Given the description of an element on the screen output the (x, y) to click on. 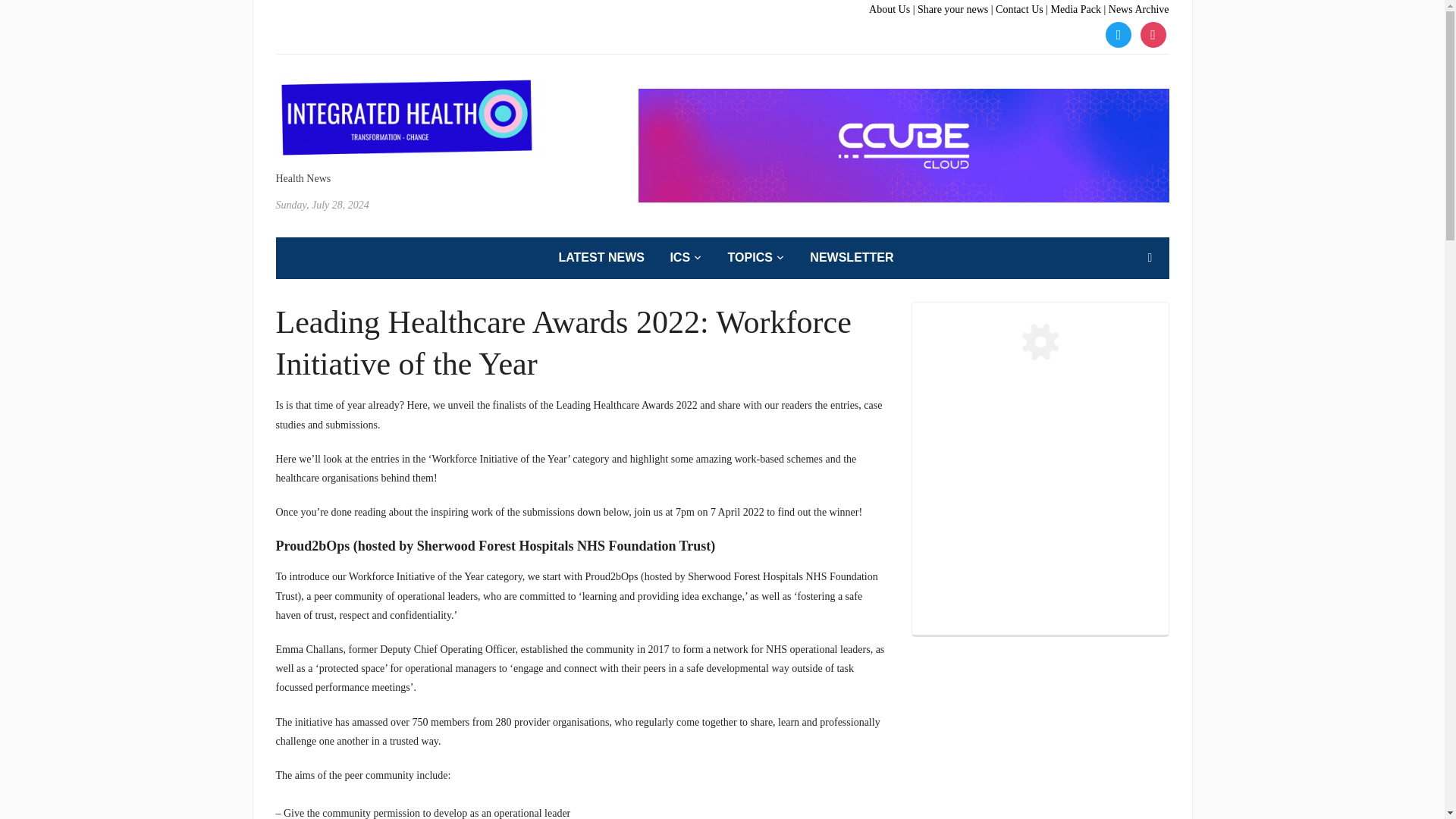
instagram (1153, 33)
twitter (1118, 33)
Search (1149, 257)
TOPICS (756, 258)
ICS (685, 258)
News Archive (1138, 9)
LATEST NEWS (600, 258)
